Given the description of an element on the screen output the (x, y) to click on. 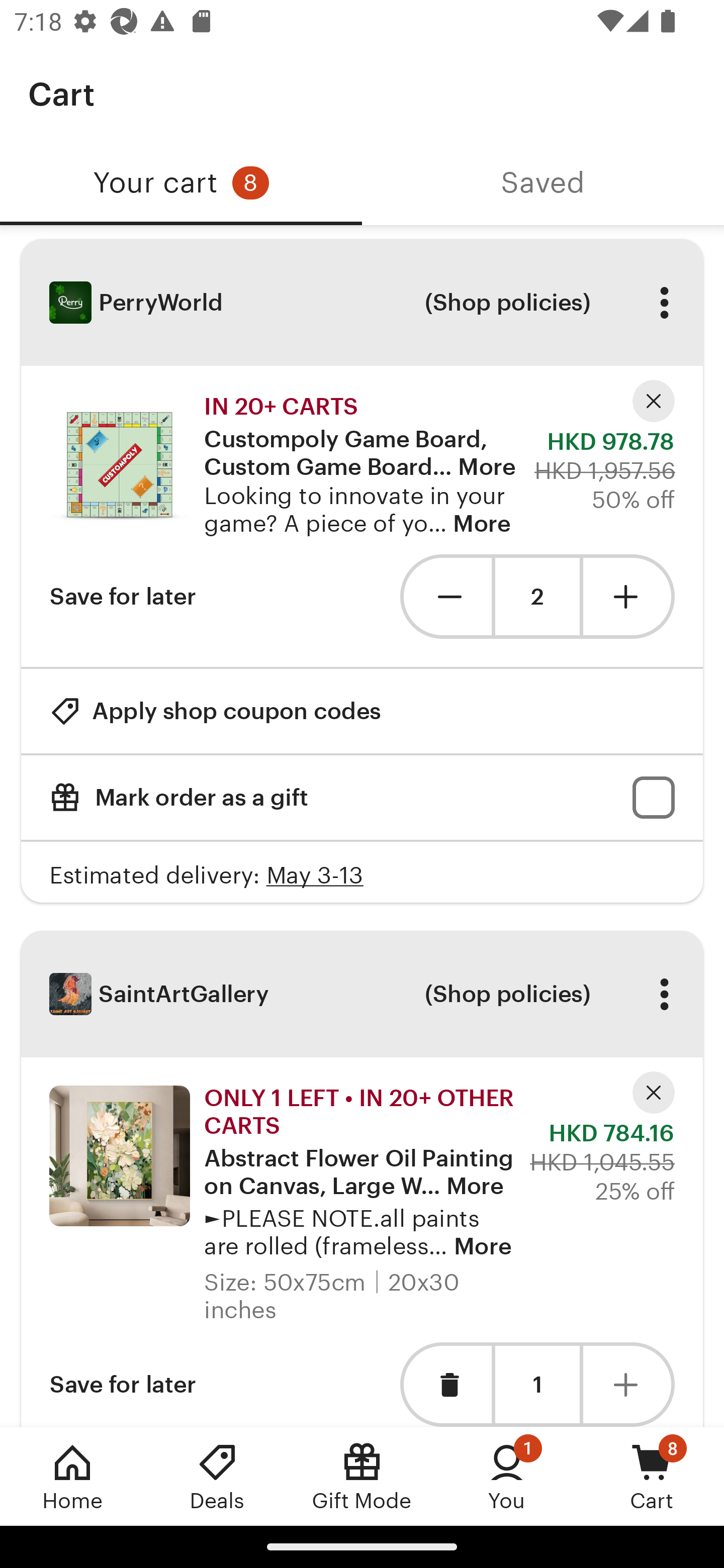
Saved, tab 2 of 2 Saved (543, 183)
PerryWorld (Shop policies) More options (361, 302)
(Shop policies) (507, 302)
More options (663, 302)
Save for later (122, 596)
Remove one unit from cart (445, 596)
Add one unit to cart (628, 596)
2 (537, 597)
Apply shop coupon codes (215, 710)
Mark order as a gift (361, 797)
SaintArtGallery (Shop policies) More options (361, 993)
(Shop policies) (507, 993)
More options (663, 993)
Save for later (122, 1384)
Remove item from cart (445, 1384)
Add one unit to cart (628, 1384)
1 (537, 1384)
Home (72, 1475)
Deals (216, 1475)
Gift Mode (361, 1475)
You, 1 new notification You (506, 1475)
